Given the description of an element on the screen output the (x, y) to click on. 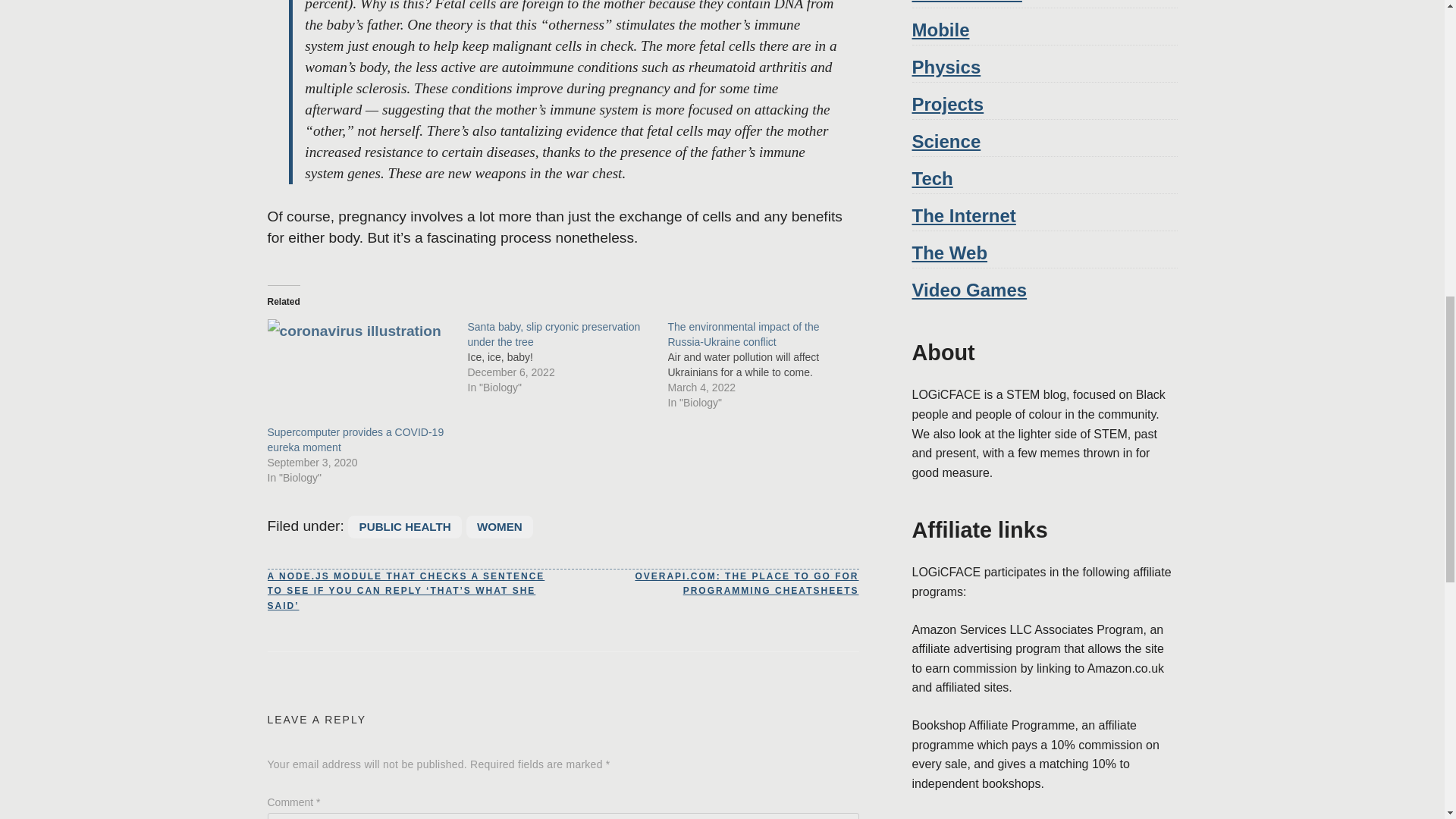
WOMEN (498, 526)
PUBLIC HEALTH (404, 526)
Supercomputer provides a COVID-19 eureka moment (358, 372)
Santa baby, slip cryonic preservation under the tree (553, 334)
Mobile (940, 29)
Mathematics (966, 1)
OVERAPI.COM: THE PLACE TO GO FOR PROGRAMMING CHEATSHEETS (710, 583)
Tech (931, 178)
Santa baby, slip cryonic preservation under the tree (553, 334)
Projects (947, 104)
The environmental impact of the Russia-Ukraine conflict (742, 334)
Santa baby, slip cryonic preservation under the tree (566, 356)
Science (945, 141)
Physics (945, 66)
The environmental impact of the Russia-Ukraine conflict (742, 334)
